Given the description of an element on the screen output the (x, y) to click on. 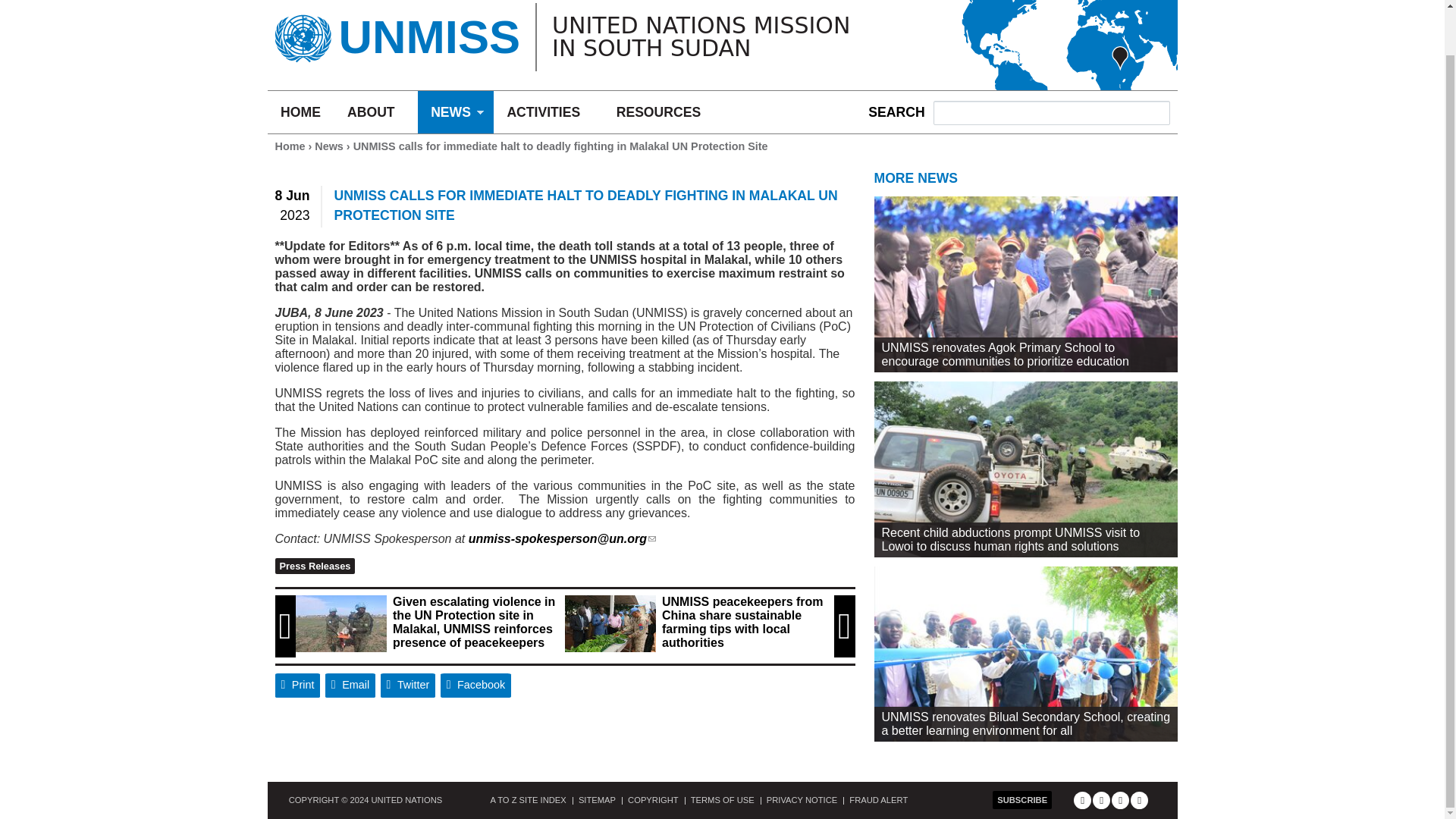
Home (428, 36)
HOME (299, 111)
Home (301, 33)
Email (349, 685)
Print (297, 685)
Enter the terms you wish to search for. (1051, 112)
Twitter (407, 685)
UNMISS (428, 36)
Facebook (476, 685)
